Given the description of an element on the screen output the (x, y) to click on. 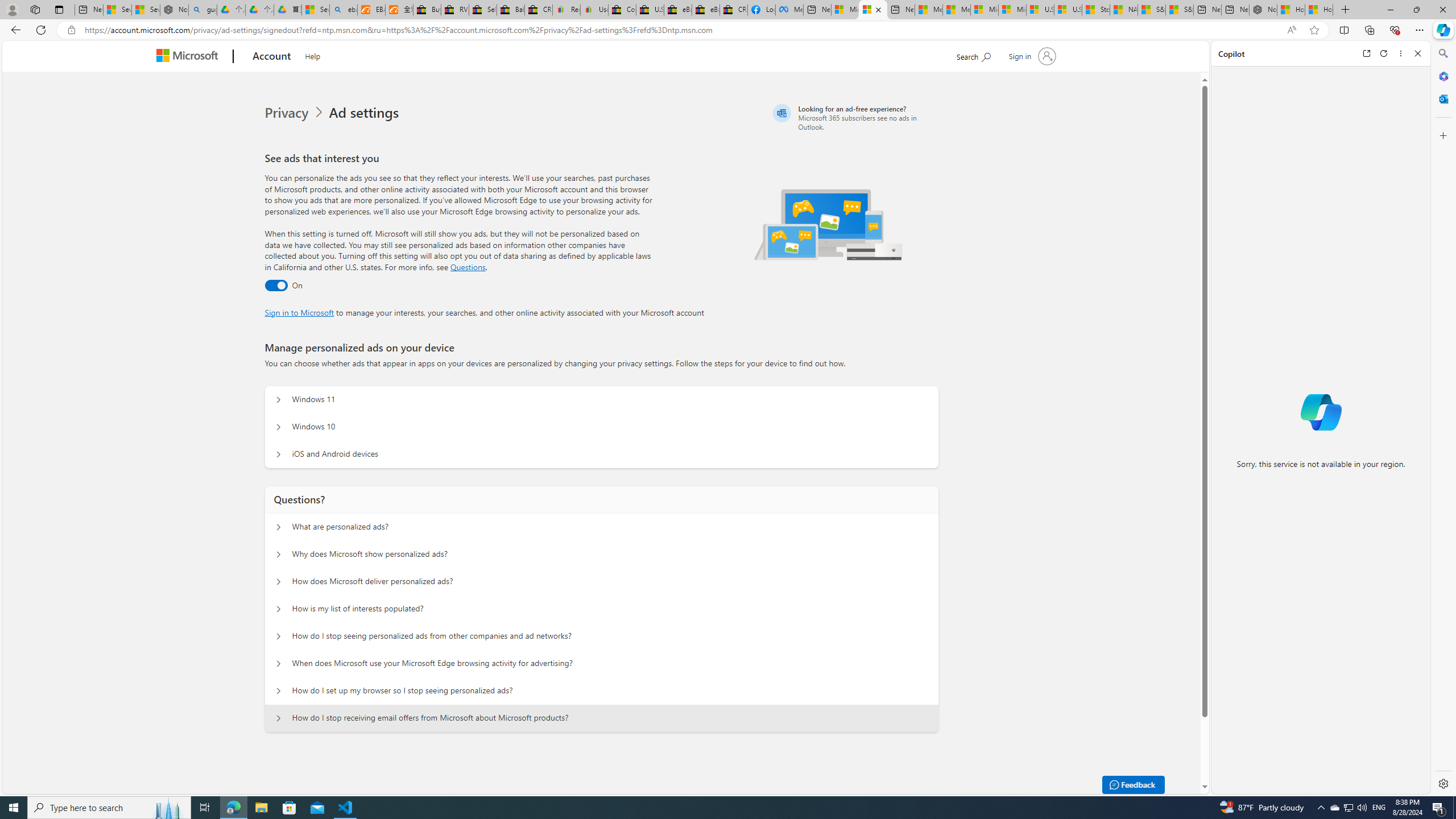
Restore (1416, 9)
Add this page to favorites (Ctrl+D) (1314, 29)
